Given the description of an element on the screen output the (x, y) to click on. 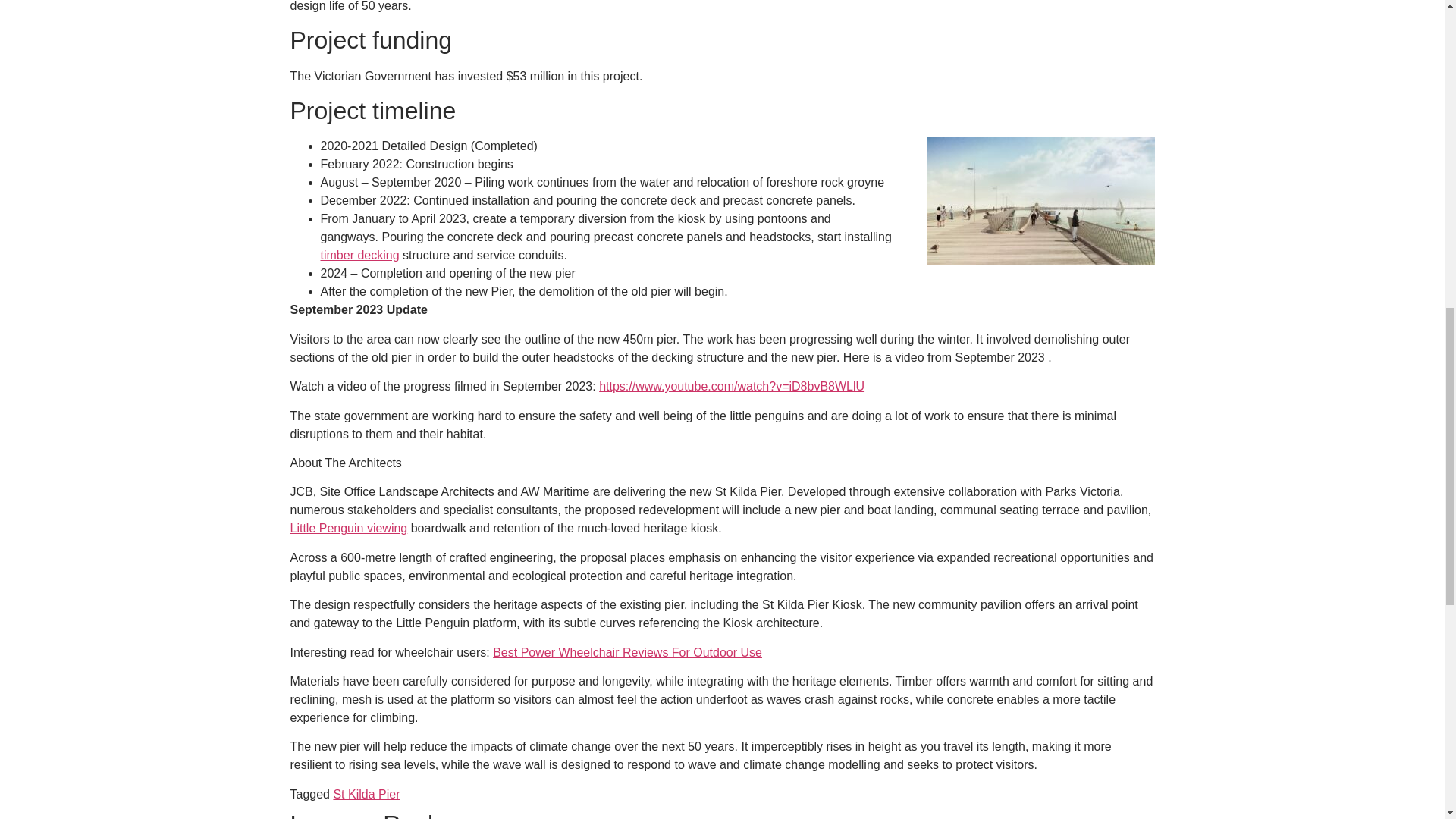
Little Penguin viewing (348, 527)
St Kilda Pier (365, 793)
Best Power Wheelchair Reviews For Outdoor Use (627, 652)
timber decking (359, 254)
